Given the description of an element on the screen output the (x, y) to click on. 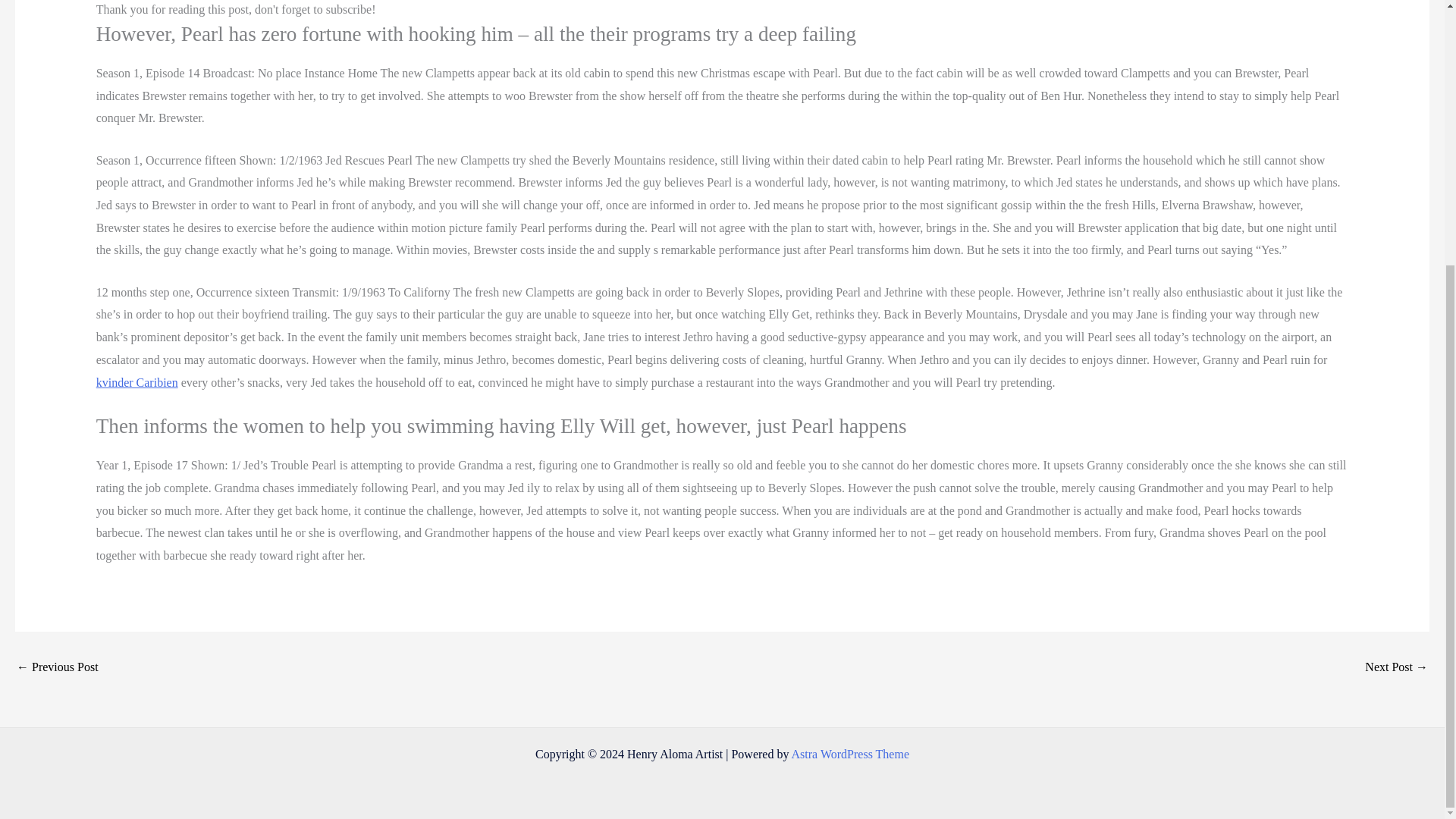
kvinder Caribien (136, 382)
Astra WordPress Theme (850, 753)
